Given the description of an element on the screen output the (x, y) to click on. 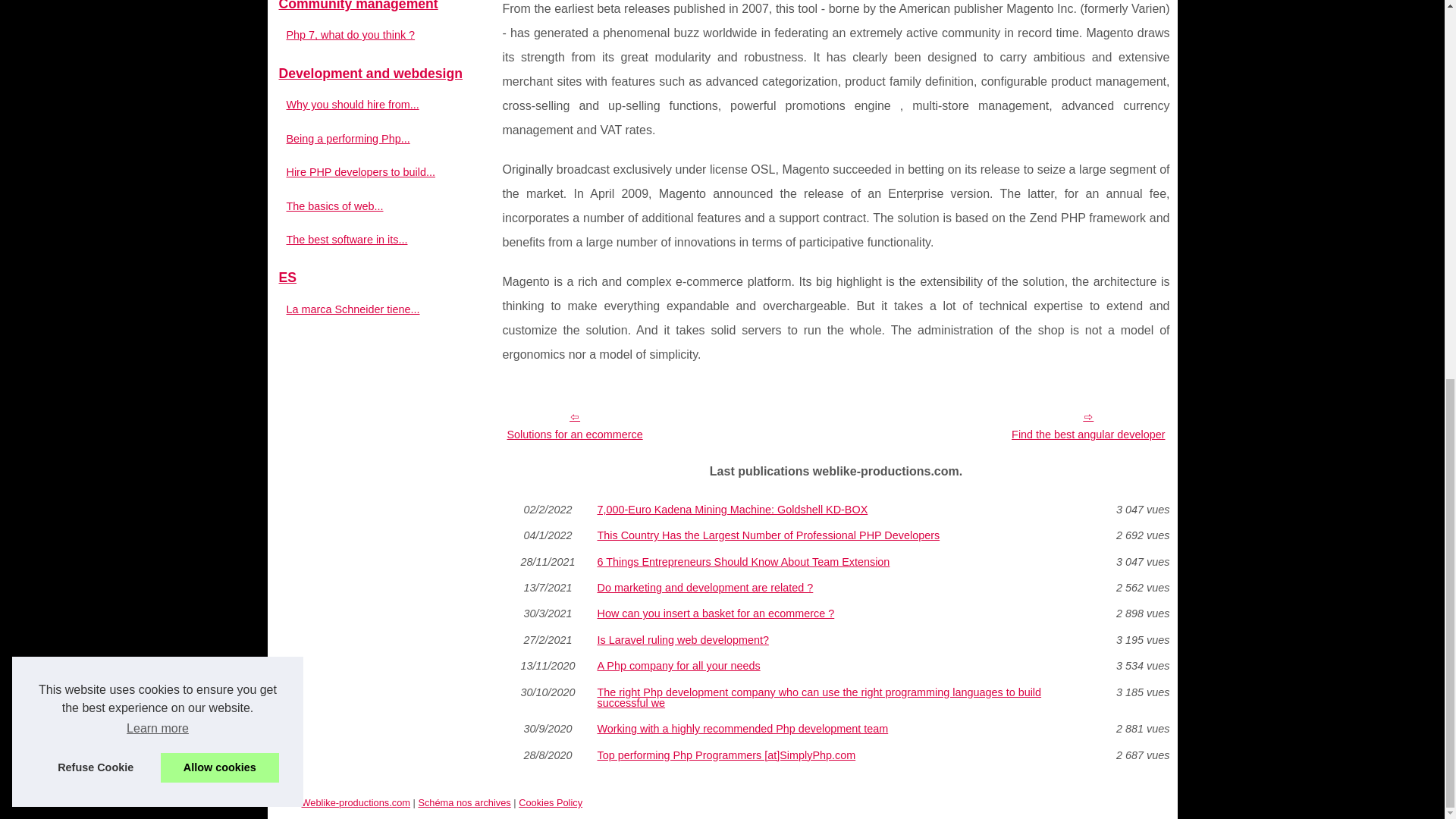
Refuse Cookie (95, 63)
Weblike-productions.com (355, 802)
Learn more (156, 24)
Working with a highly recommended Php development team (835, 728)
Find the best angular developer (1087, 425)
7,000-Euro Kadena Mining Machine: Goldshell KD-BOX (835, 509)
Working with a highly recommended Php development team (835, 728)
Development and webdesign (380, 73)
Hire PHP developers to build... (373, 171)
Is Laravel ruling web development? (835, 639)
Being a performing Php... (373, 138)
A Php company for all your needs (835, 665)
6 Things Entrepreneurs Should Know About Team Extension (835, 561)
